Given the description of an element on the screen output the (x, y) to click on. 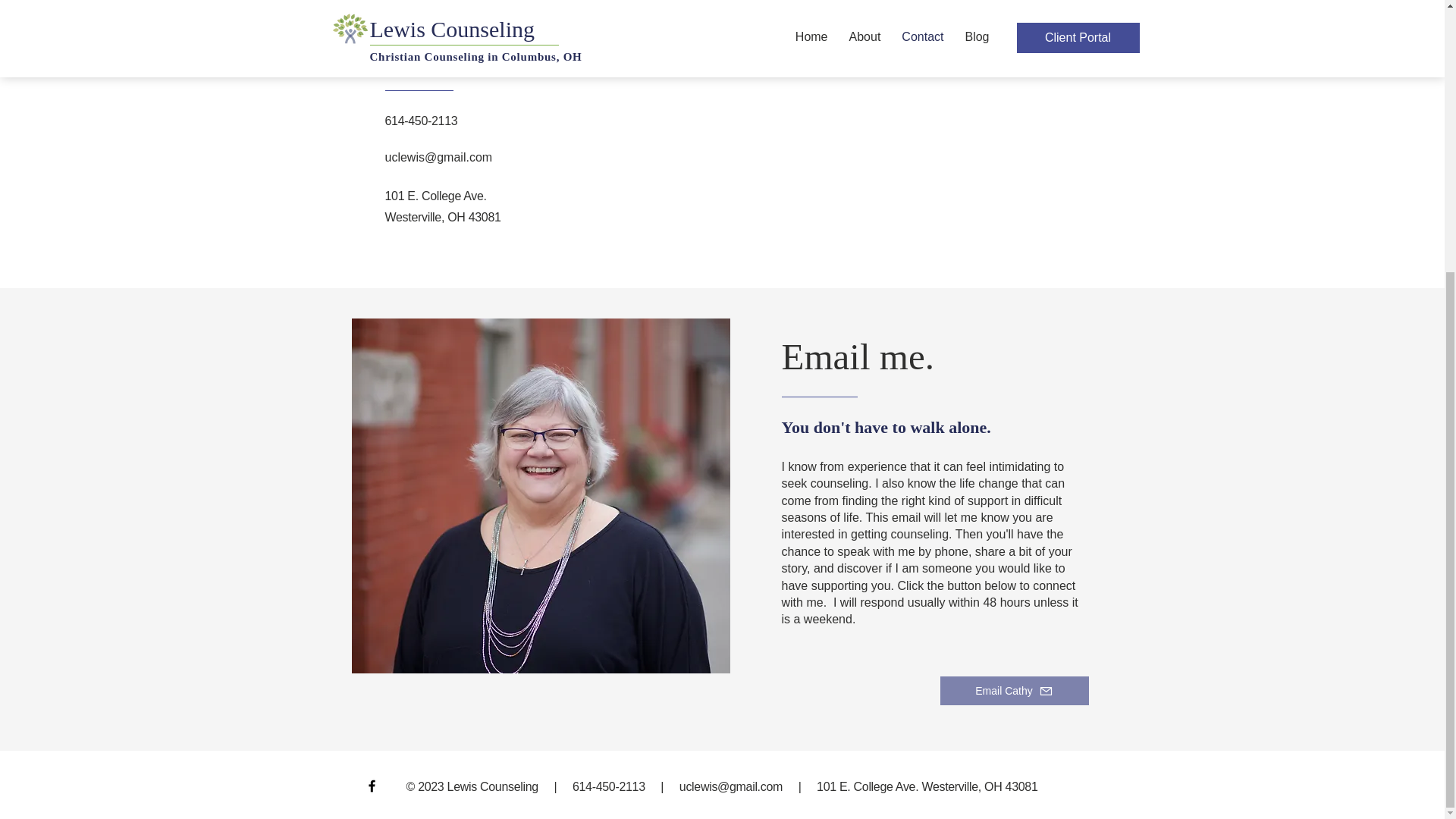
Email Cathy (1014, 690)
Google Maps (845, 127)
